Given the description of an element on the screen output the (x, y) to click on. 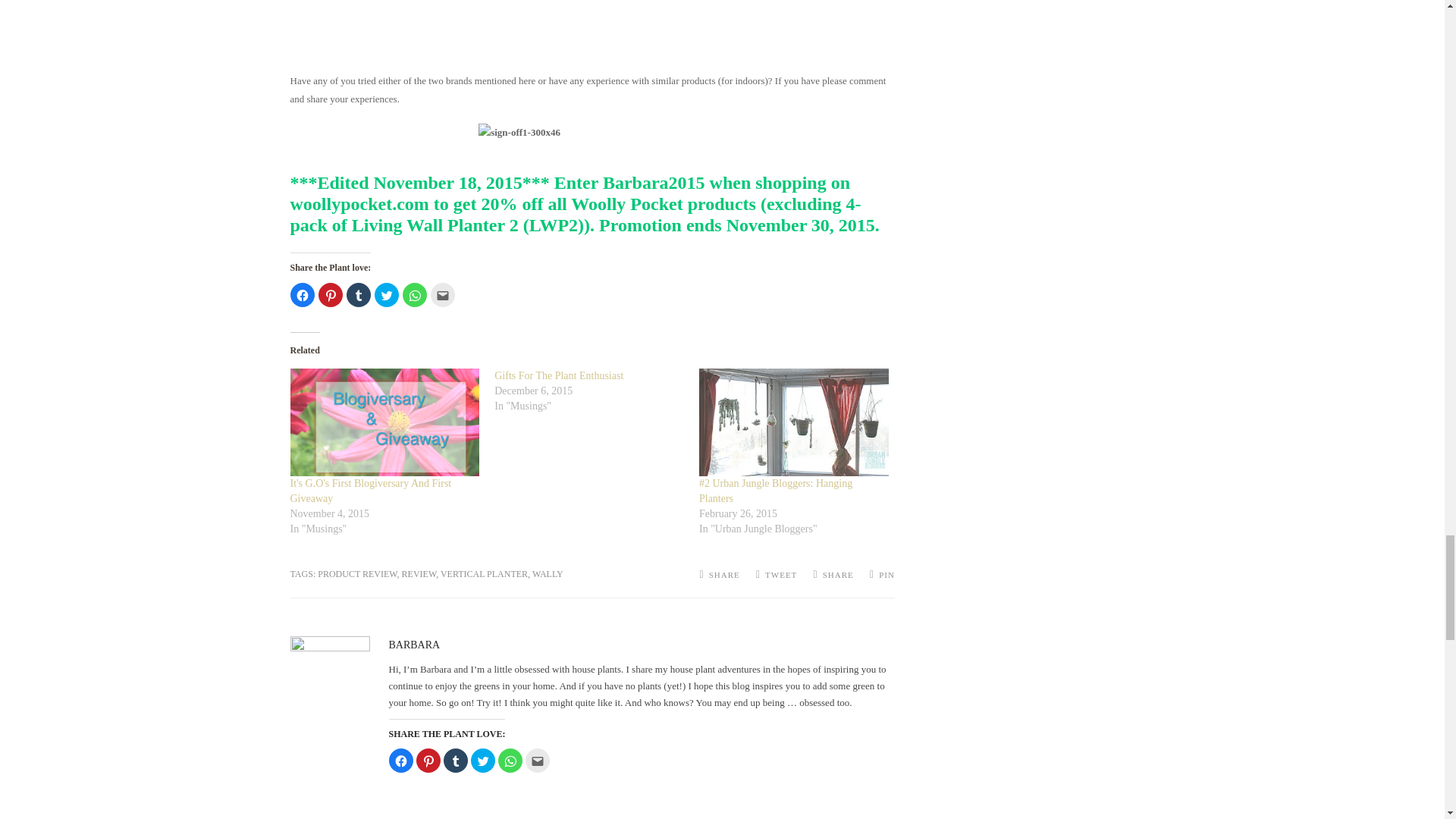
REVIEW (418, 573)
Click to share on Twitter (386, 294)
Click to share on Tumblr (454, 760)
VERTICAL PLANTER (484, 573)
It's G.O's First Blogiversary And First Giveaway (384, 422)
Click to share on Pinterest (330, 294)
Click to share on Facebook (301, 294)
TWEET (775, 575)
Gifts For The Plant Enthusiast (559, 375)
Click to share on Tumblr (357, 294)
Click to share on Facebook (400, 760)
Click to share on WhatsApp (413, 294)
PRODUCT REVIEW (356, 573)
It's G.O's First Blogiversary And First Giveaway (370, 490)
PIN (882, 575)
